Given the description of an element on the screen output the (x, y) to click on. 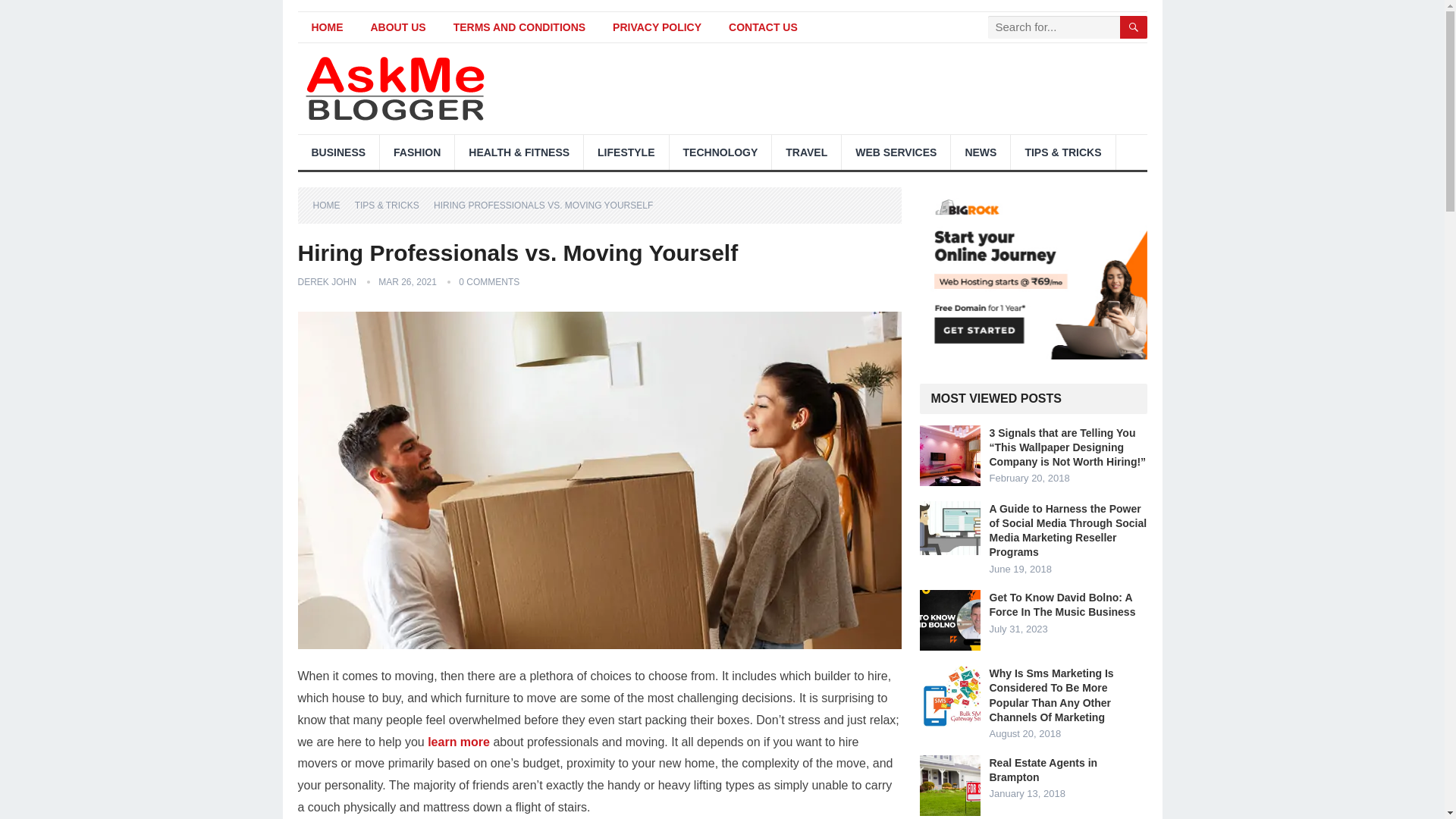
BUSINESS (337, 152)
TECHNOLOGY (720, 152)
CONTACT US (762, 27)
FASHION (417, 152)
LIFESTYLE (625, 152)
HOME (326, 27)
TRAVEL (806, 152)
PRIVACY POLICY (656, 27)
Posts by Derek John (326, 281)
ABOUT US (397, 27)
WEB SERVICES (895, 152)
TERMS AND CONDITIONS (518, 27)
